Given the description of an element on the screen output the (x, y) to click on. 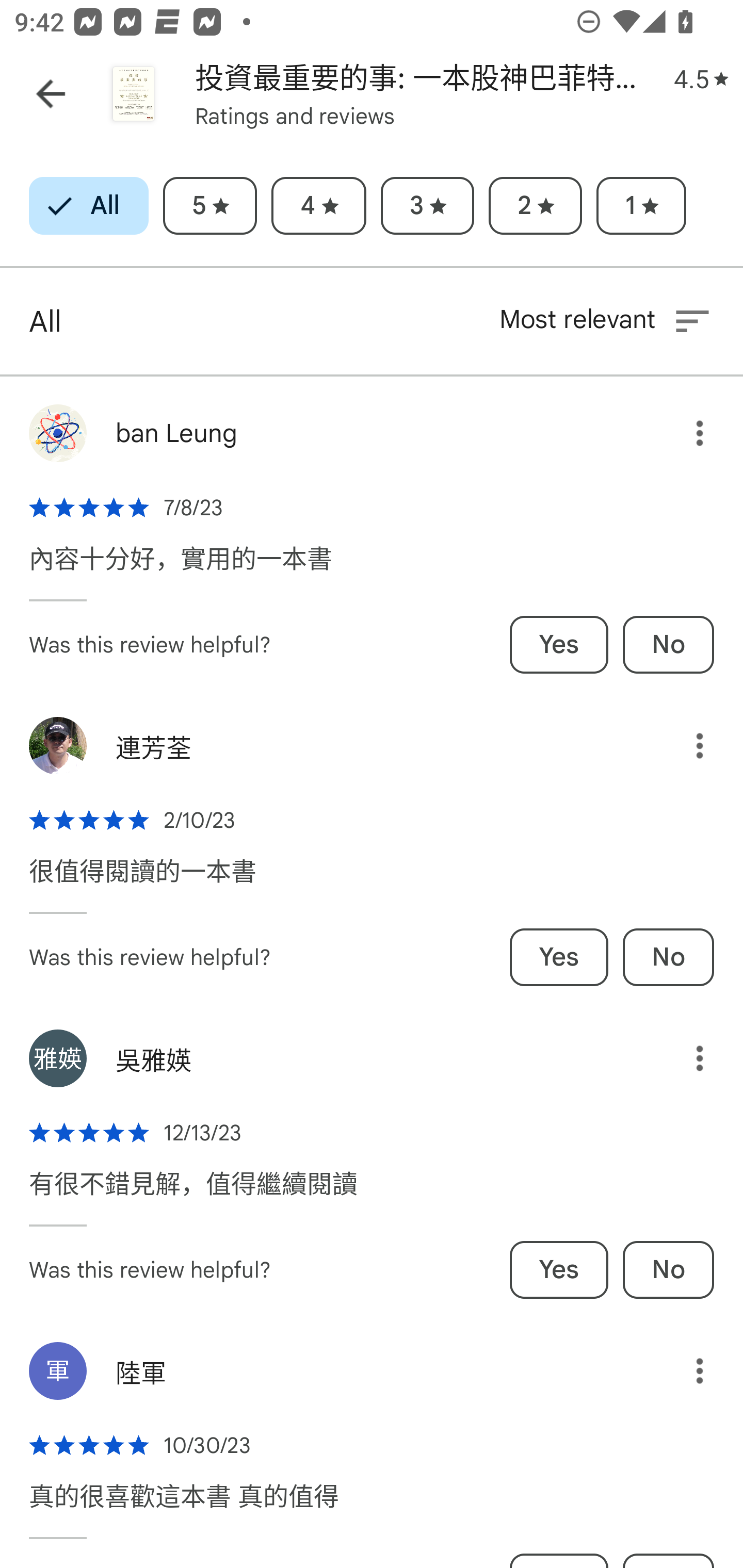
Navigate up (50, 93)
All (88, 206)
5 5 Stars (209, 206)
4 4 Stars (318, 206)
3 3 Stars (427, 206)
2 2 Stars (534, 206)
1 1 Star (641, 206)
Most relevant (606, 321)
Options (685, 433)
內容十分好，實用的一本書 (180, 567)
Yes (558, 645)
No (668, 645)
Options (685, 745)
很值得閱讀的一本書 (142, 881)
Yes (558, 957)
No (668, 957)
Options (685, 1058)
有很不錯見解，值得繼續閱讀 (193, 1193)
Yes (558, 1269)
No (668, 1269)
Options (685, 1371)
真的很喜歡這本書 真的值得 (183, 1505)
